Given the description of an element on the screen output the (x, y) to click on. 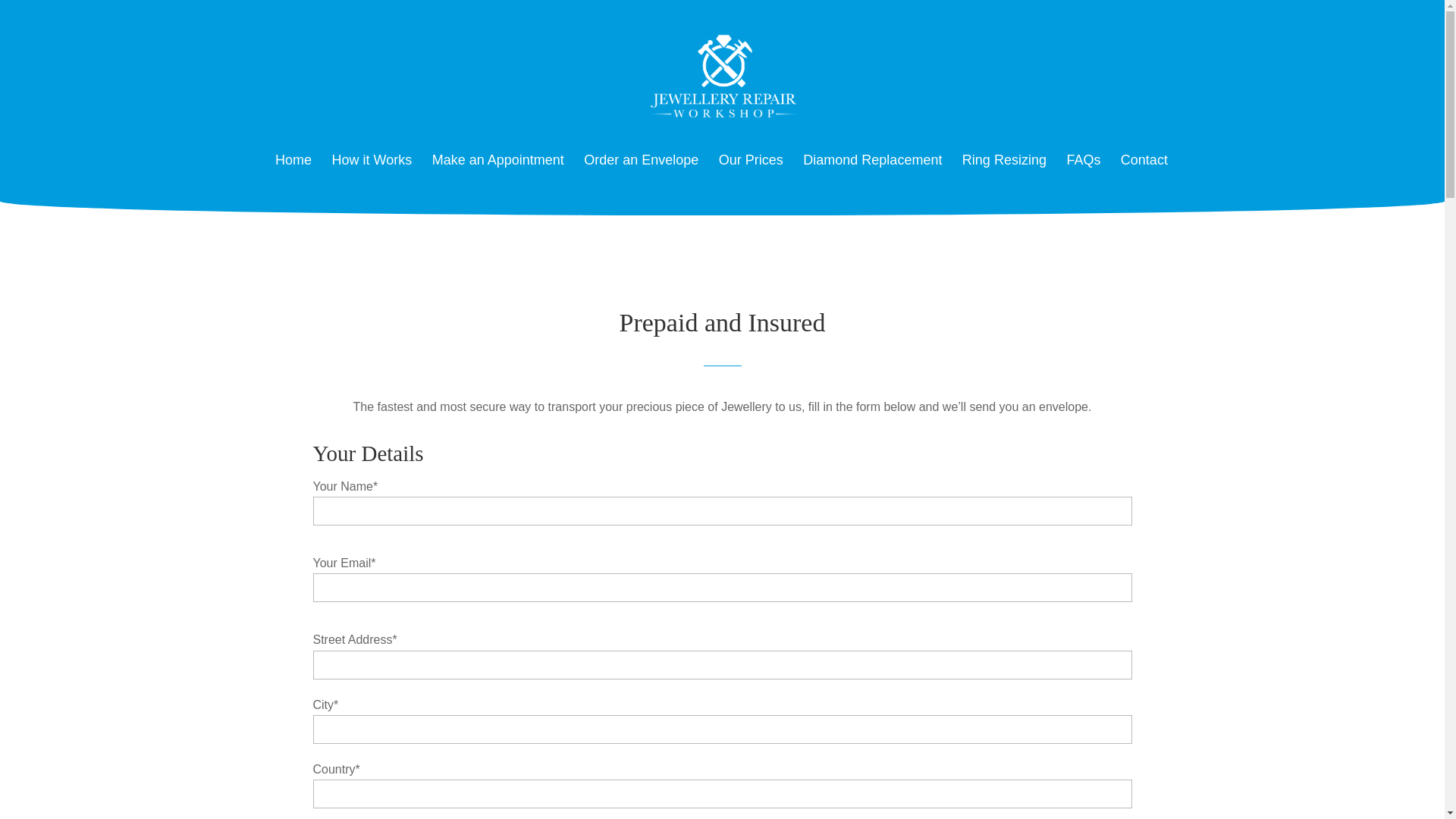
Home (293, 173)
Make an Appointment (498, 173)
Contact (1144, 173)
How it Works (371, 173)
Order an Envelope (640, 173)
FAQs (1082, 173)
Ring Resizing (1004, 173)
Our Prices (751, 173)
Diamond Replacement (872, 173)
